Given the description of an element on the screen output the (x, y) to click on. 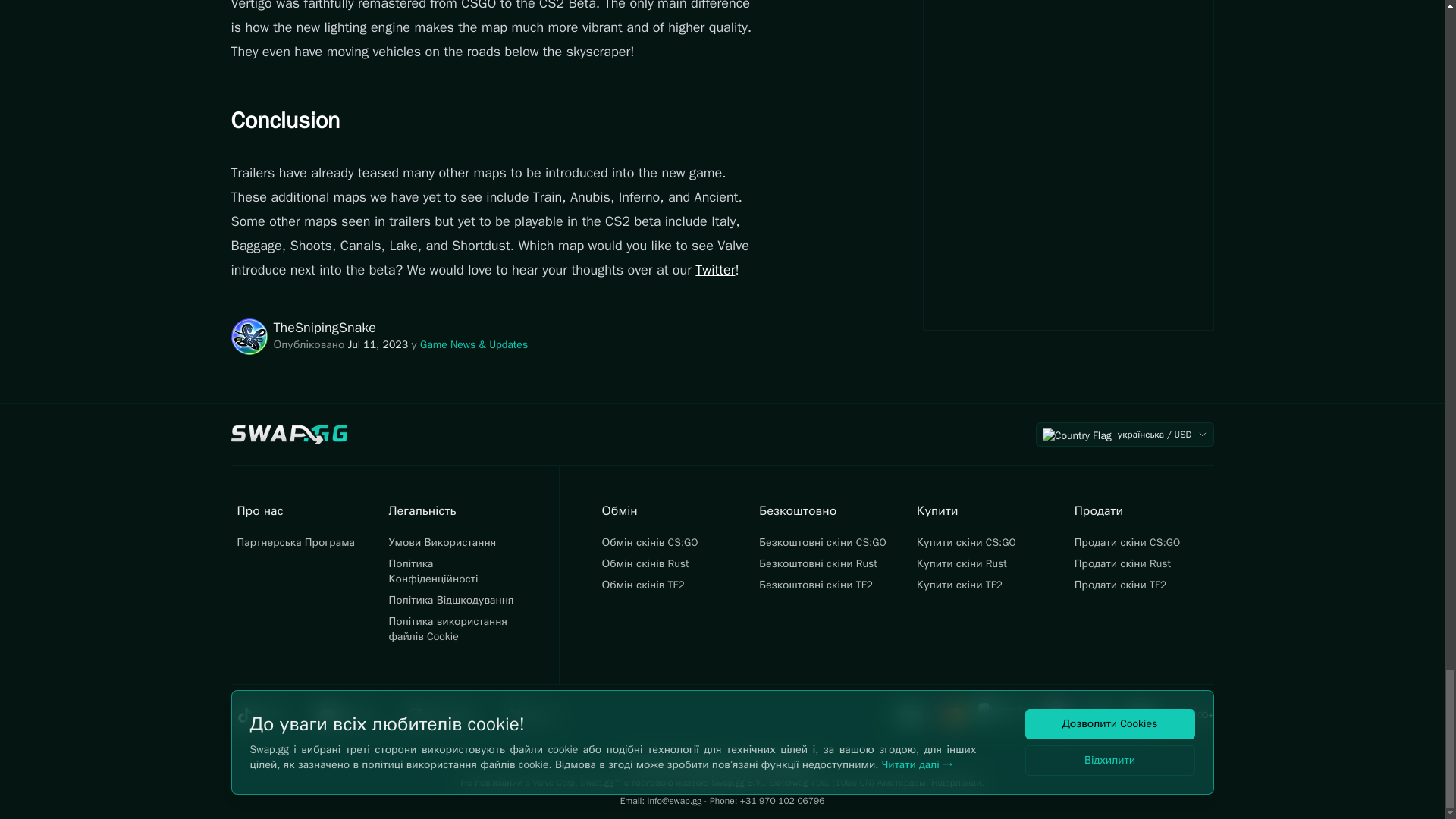
PayPal (1099, 714)
Discord (354, 714)
UnionPay (1005, 714)
Visa (909, 714)
X.com (539, 714)
Tiktok (267, 714)
Skrill (1139, 714)
Instagram (450, 714)
iDEAL (1058, 714)
Mastercard (953, 714)
Twitter (715, 269)
